Given the description of an element on the screen output the (x, y) to click on. 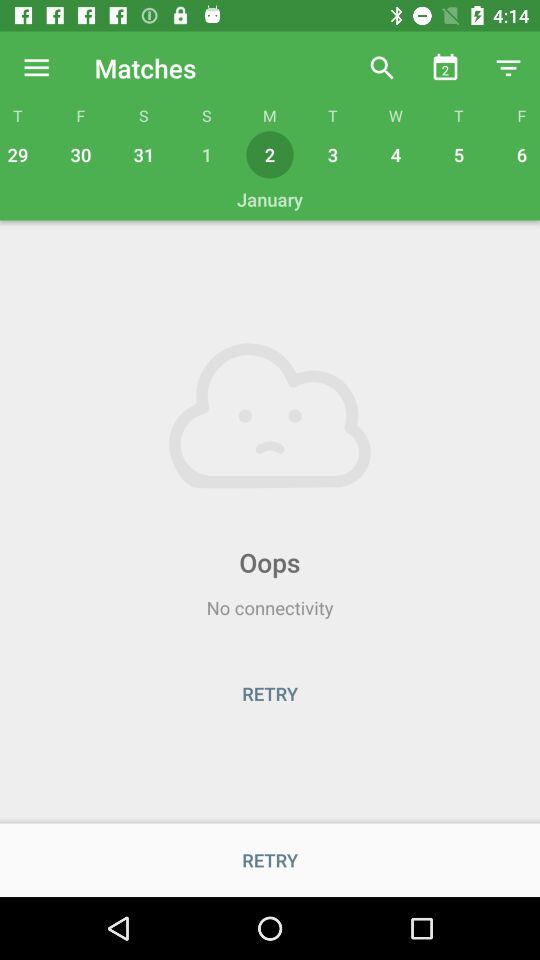
select the item above january (519, 154)
